Given the description of an element on the screen output the (x, y) to click on. 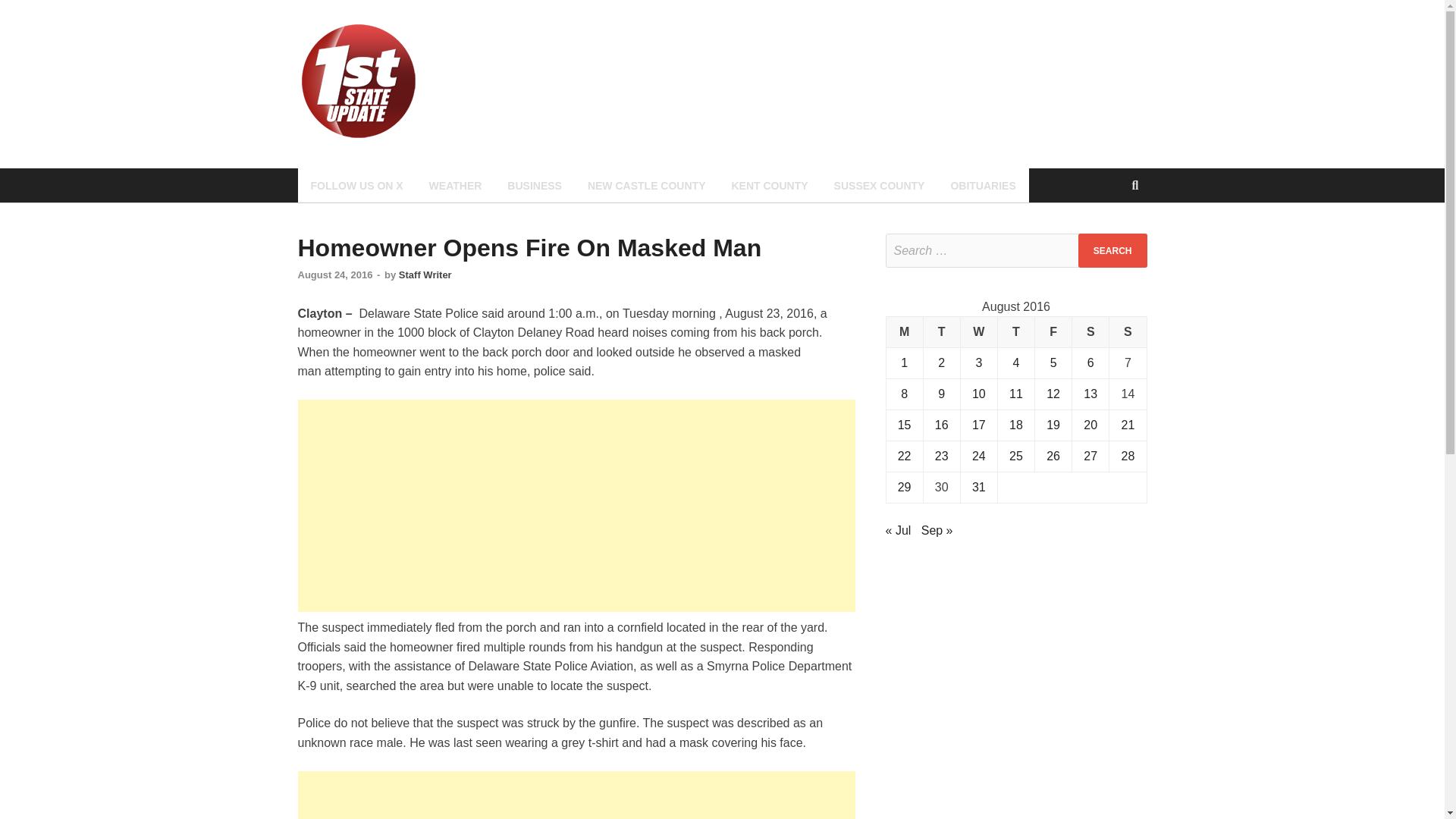
Wednesday (978, 332)
Advertisement (575, 505)
Monday (904, 332)
WEATHER (455, 185)
SUSSEX COUNTY (879, 185)
12 (1052, 393)
BUSINESS (535, 185)
11 (1016, 393)
KENT COUNTY (769, 185)
13 (1090, 393)
